Given the description of an element on the screen output the (x, y) to click on. 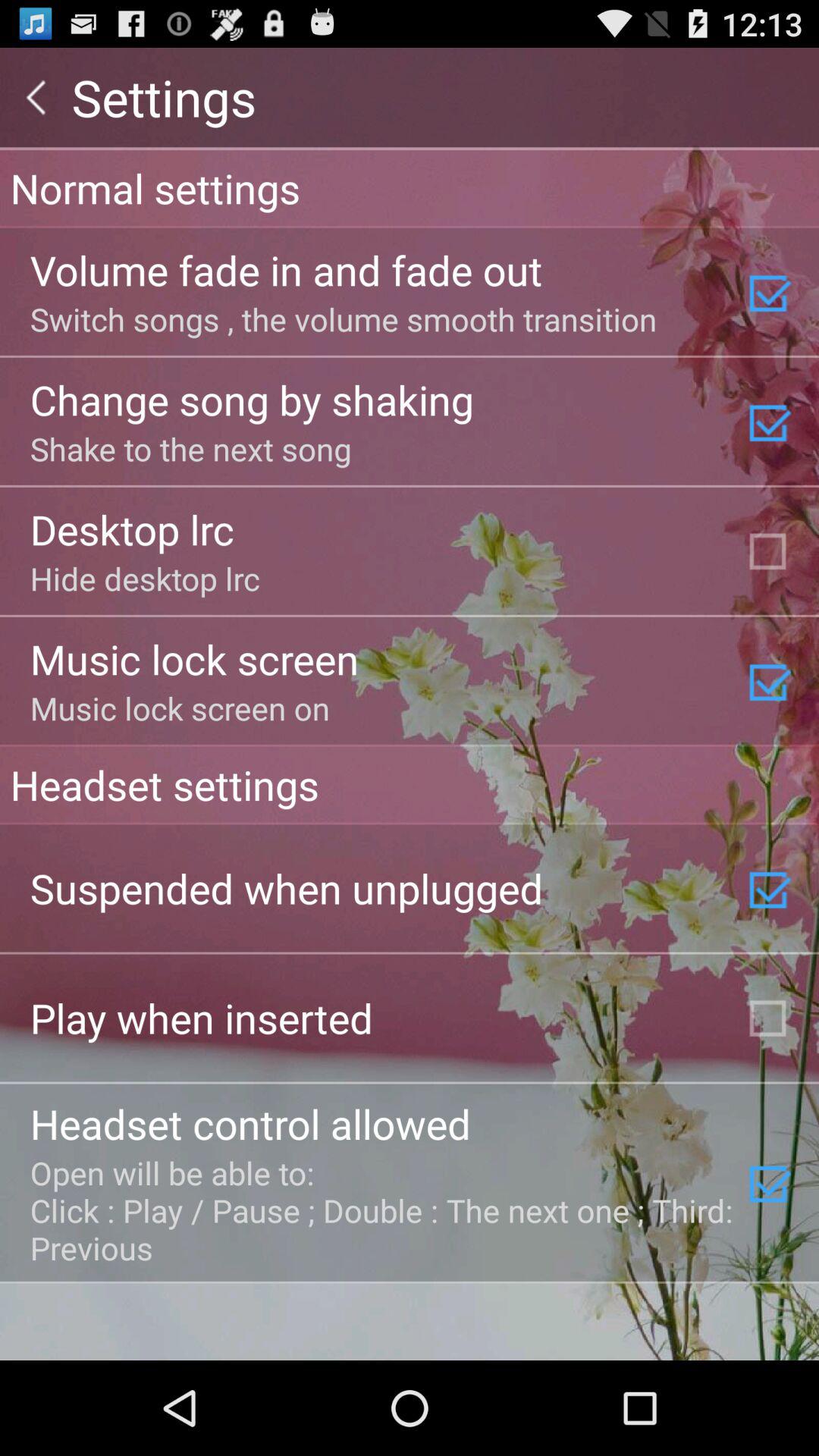
flip until the normal settings (409, 187)
